Given the description of an element on the screen output the (x, y) to click on. 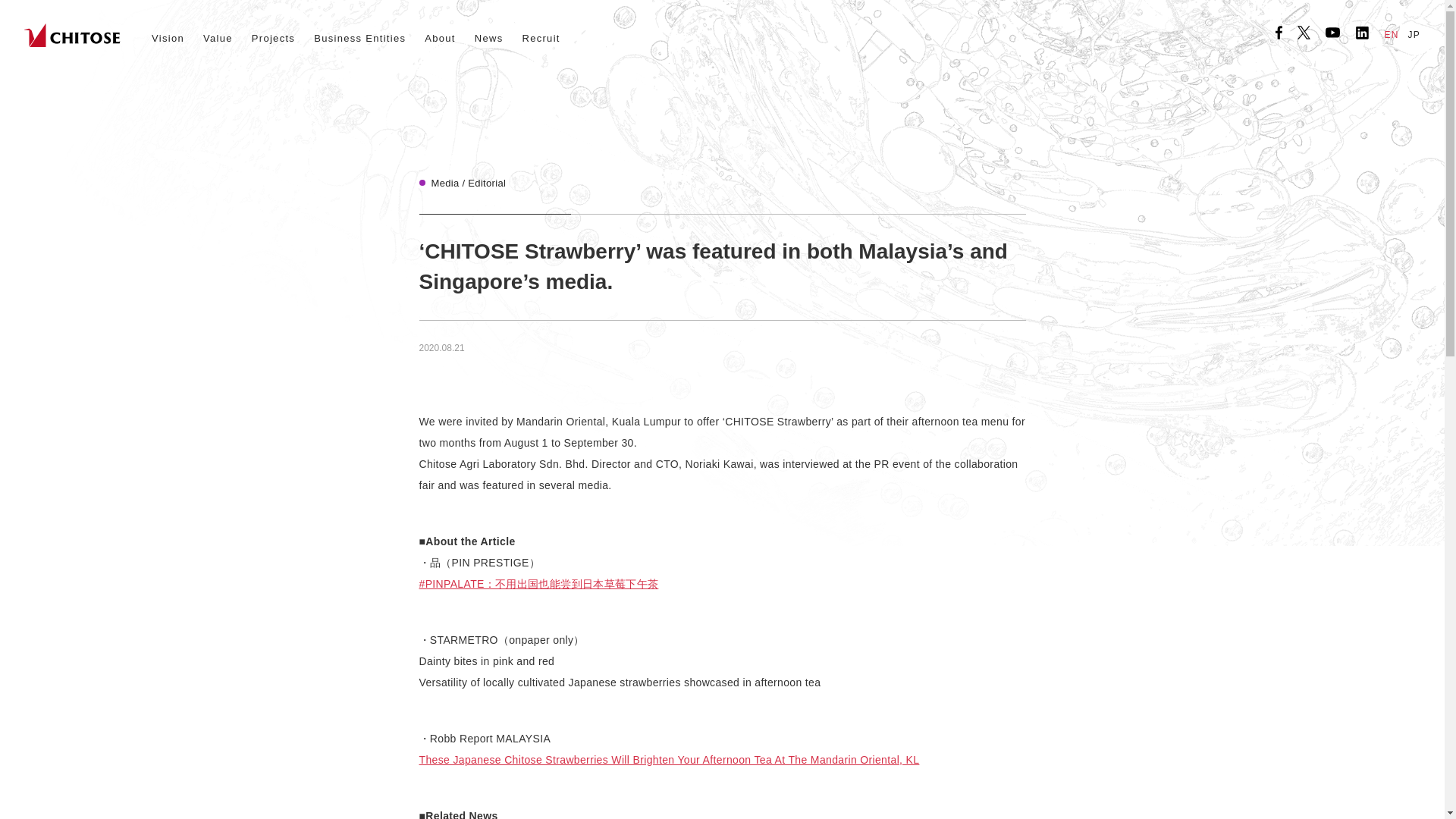
Recruit (540, 38)
JP (1414, 35)
Vision (167, 38)
Value (217, 38)
EN (1391, 35)
Business Entities (360, 38)
News (488, 38)
Projects (273, 38)
About (439, 38)
